Given the description of an element on the screen output the (x, y) to click on. 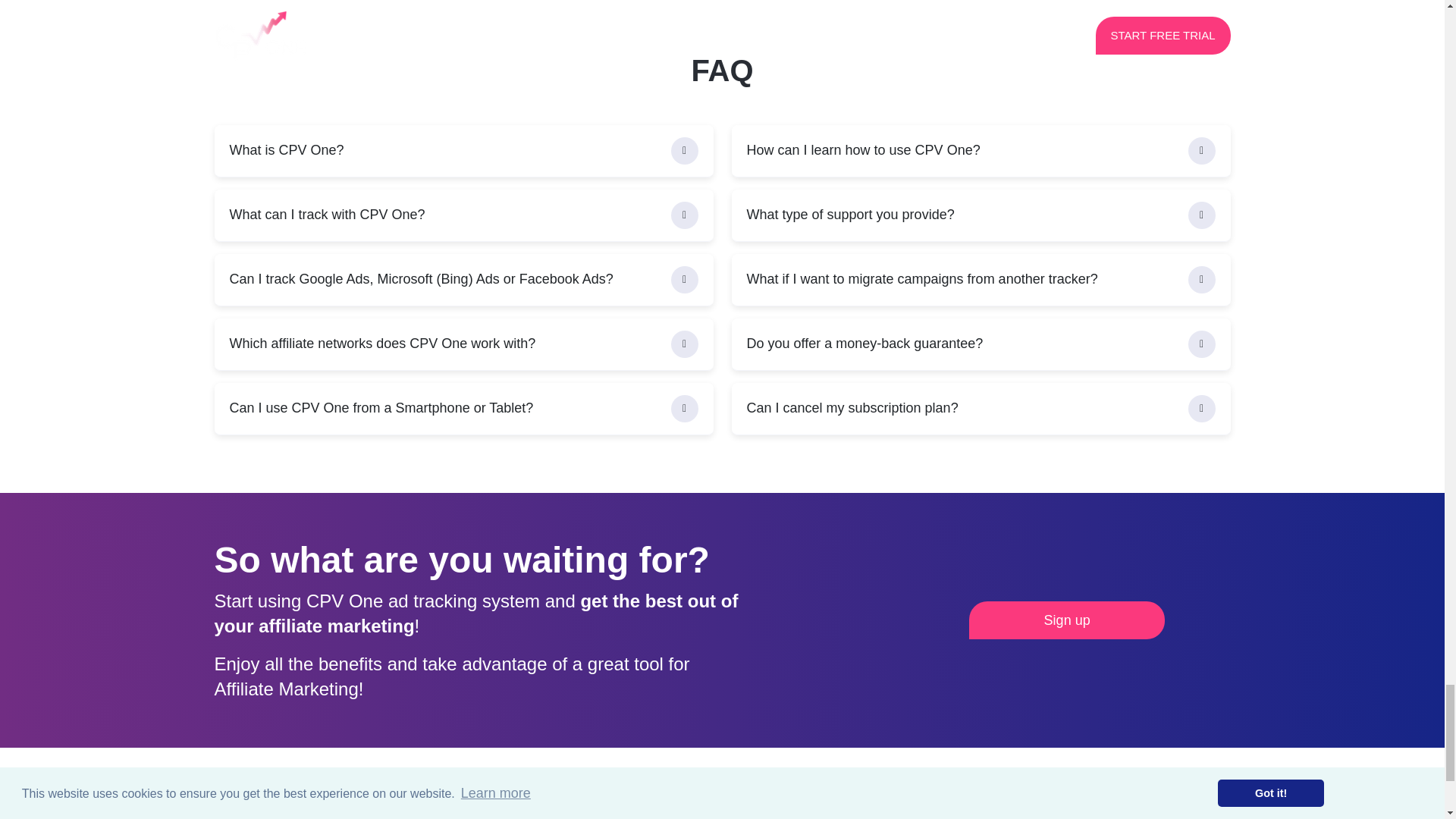
What can I track with CPV One? (463, 215)
Which affiliate networks does CPV One work with? (463, 344)
What is CPV One? (463, 151)
Can I use CPV One from a Smartphone or Tablet? (463, 408)
How can I learn how to use CPV One? (980, 151)
